Given the description of an element on the screen output the (x, y) to click on. 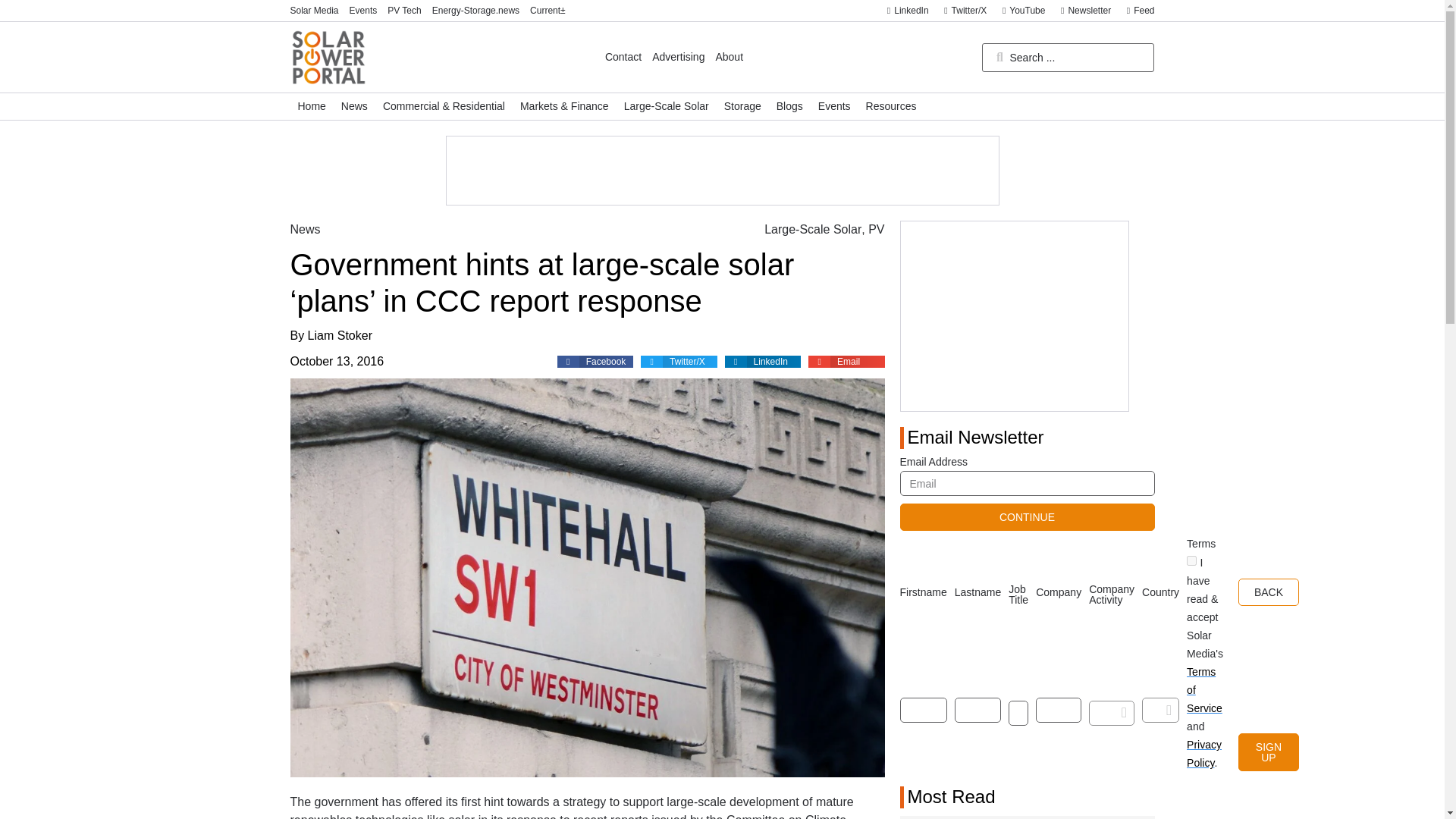
Large-Scale Solar (665, 106)
YouTube (1019, 10)
Solar Media (313, 10)
Home (311, 106)
LinkedIn (903, 10)
spp-logo (327, 57)
Help widget launcher (1379, 792)
News (304, 229)
3rd party ad content (721, 170)
3rd party ad content (1014, 316)
Storage (742, 106)
on (1191, 560)
Events (834, 106)
Events (363, 10)
News (354, 106)
